Given the description of an element on the screen output the (x, y) to click on. 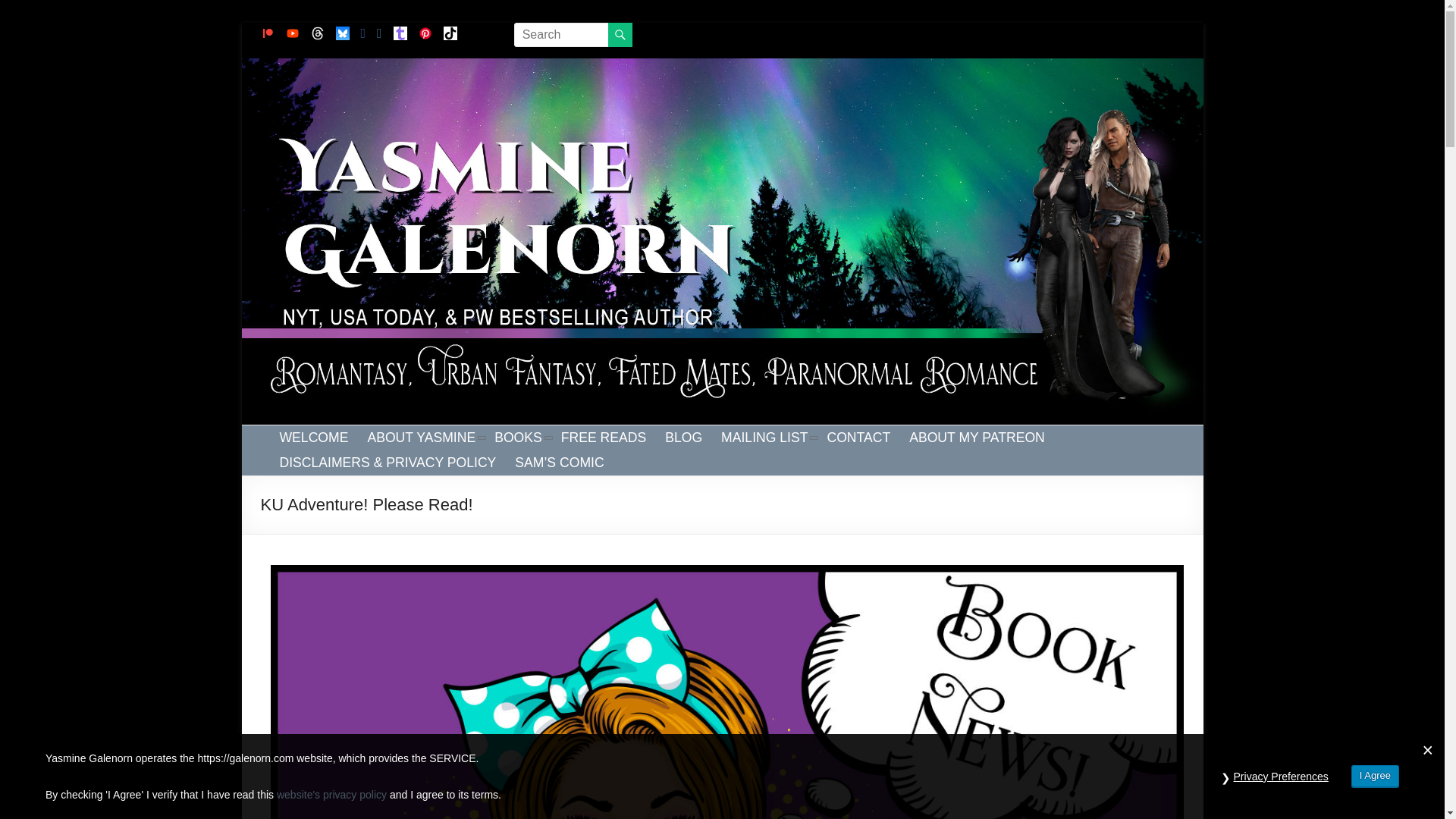
ABOUT YASMINE (421, 437)
WELCOME (313, 437)
BOOKS (518, 437)
